Given the description of an element on the screen output the (x, y) to click on. 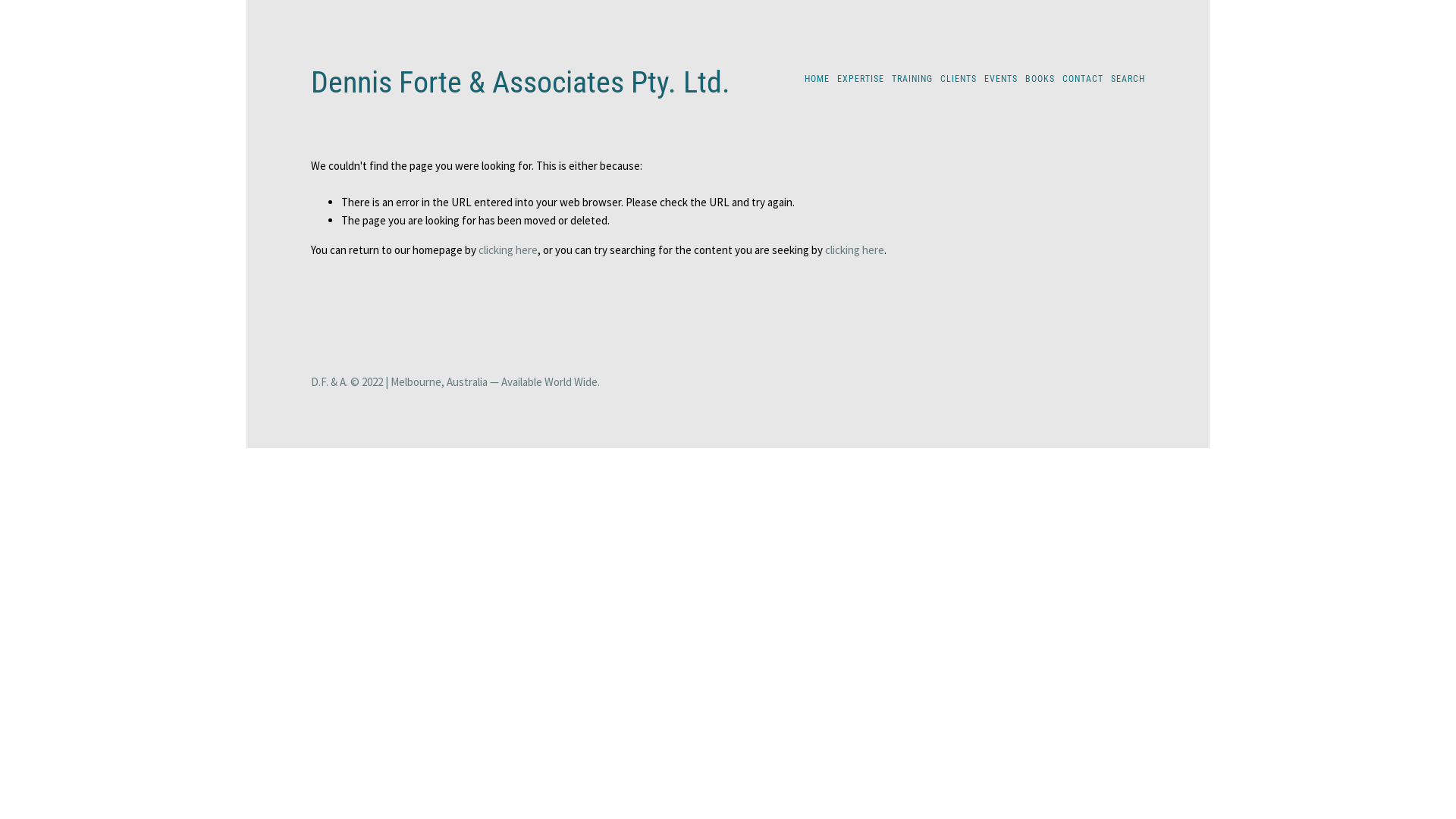
clicking here Element type: text (507, 249)
BOOKS Element type: text (1039, 78)
Dennis Forte & Associates Pty. Ltd. Element type: text (520, 82)
CLIENTS Element type: text (958, 78)
EXPERTISE Element type: text (860, 78)
EVENTS Element type: text (1000, 78)
SEARCH Element type: text (1127, 78)
CONTACT Element type: text (1082, 78)
clicking here Element type: text (854, 249)
HOME Element type: text (816, 78)
TRAINING Element type: text (911, 78)
